Given the description of an element on the screen output the (x, y) to click on. 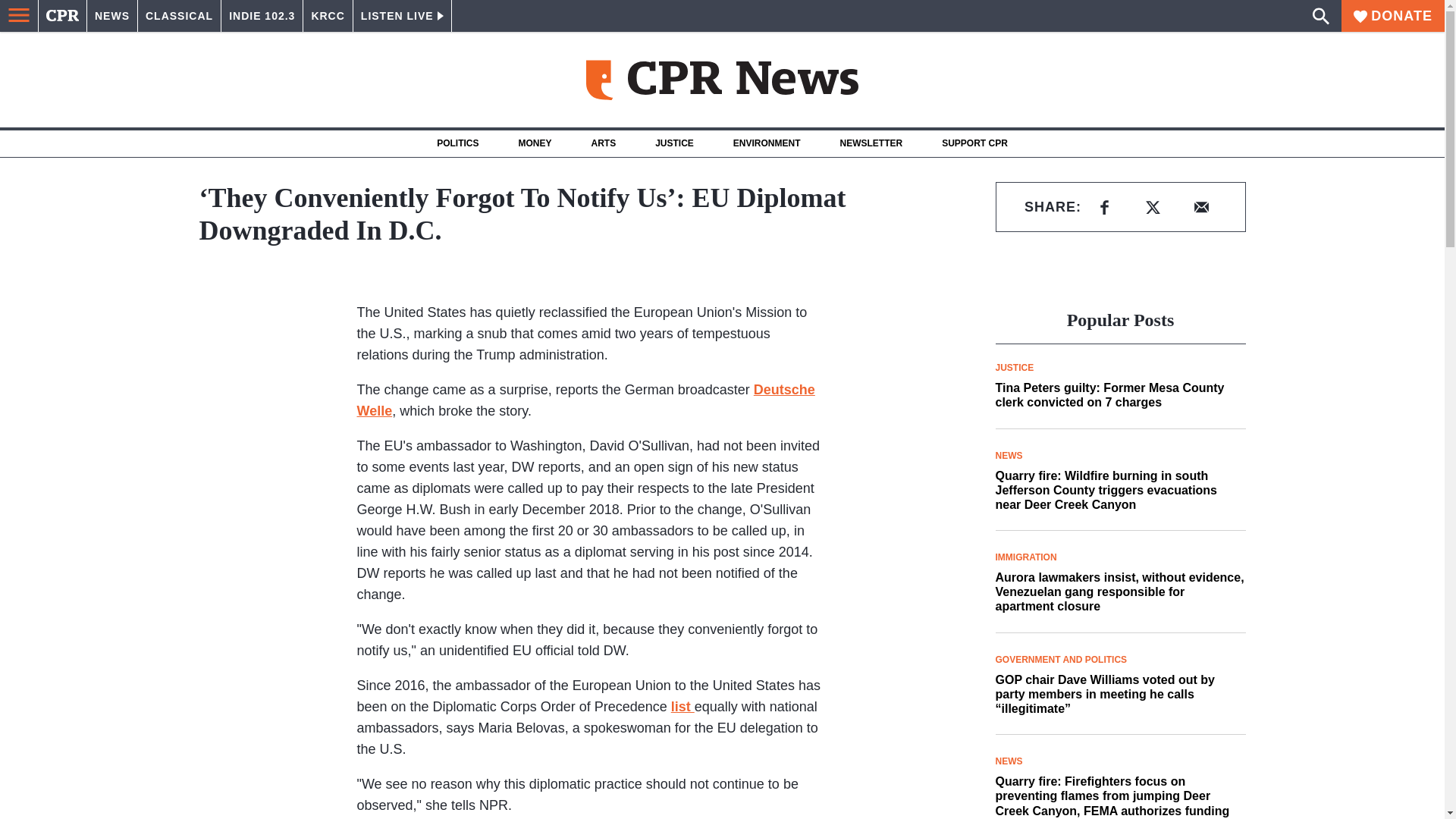
NEWS (111, 15)
LISTEN LIVE (402, 15)
CLASSICAL (179, 15)
INDIE 102.3 (261, 15)
KRCC (327, 15)
